Given the description of an element on the screen output the (x, y) to click on. 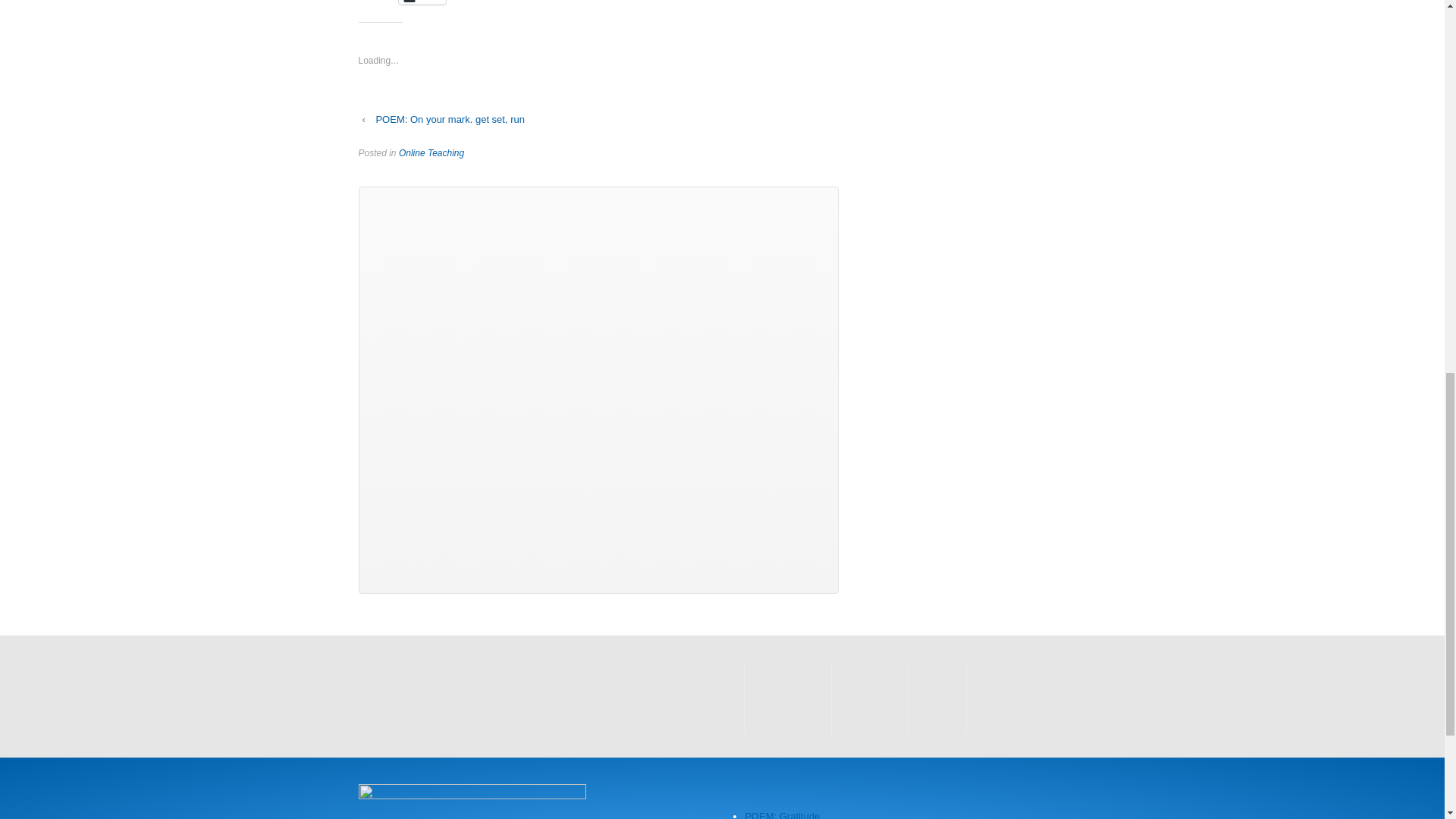
Click to email a link to a friend (421, 2)
Email (421, 2)
Online Teaching (431, 153)
Tweet (377, 1)
POEM: On your mark. get set, run (450, 118)
